Given the description of an element on the screen output the (x, y) to click on. 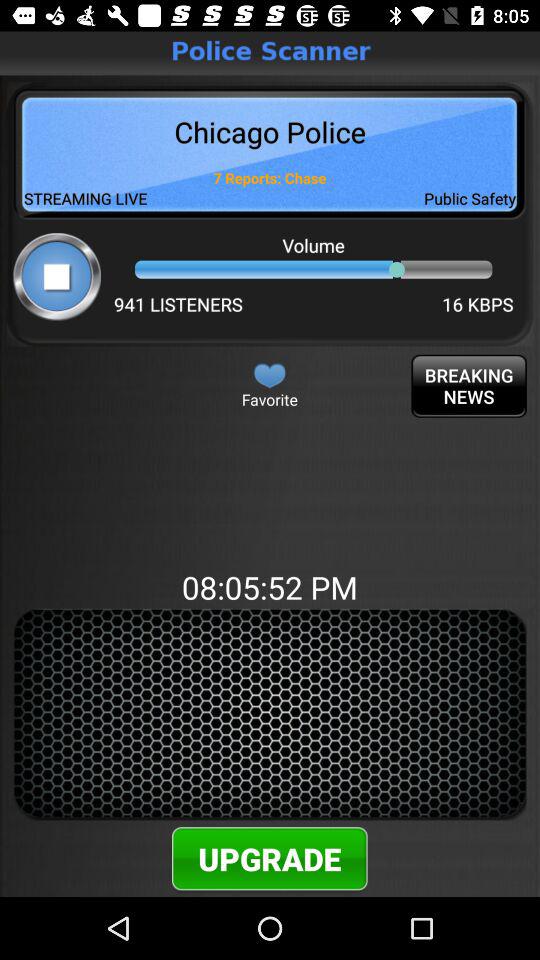
stop music (56, 276)
